Given the description of an element on the screen output the (x, y) to click on. 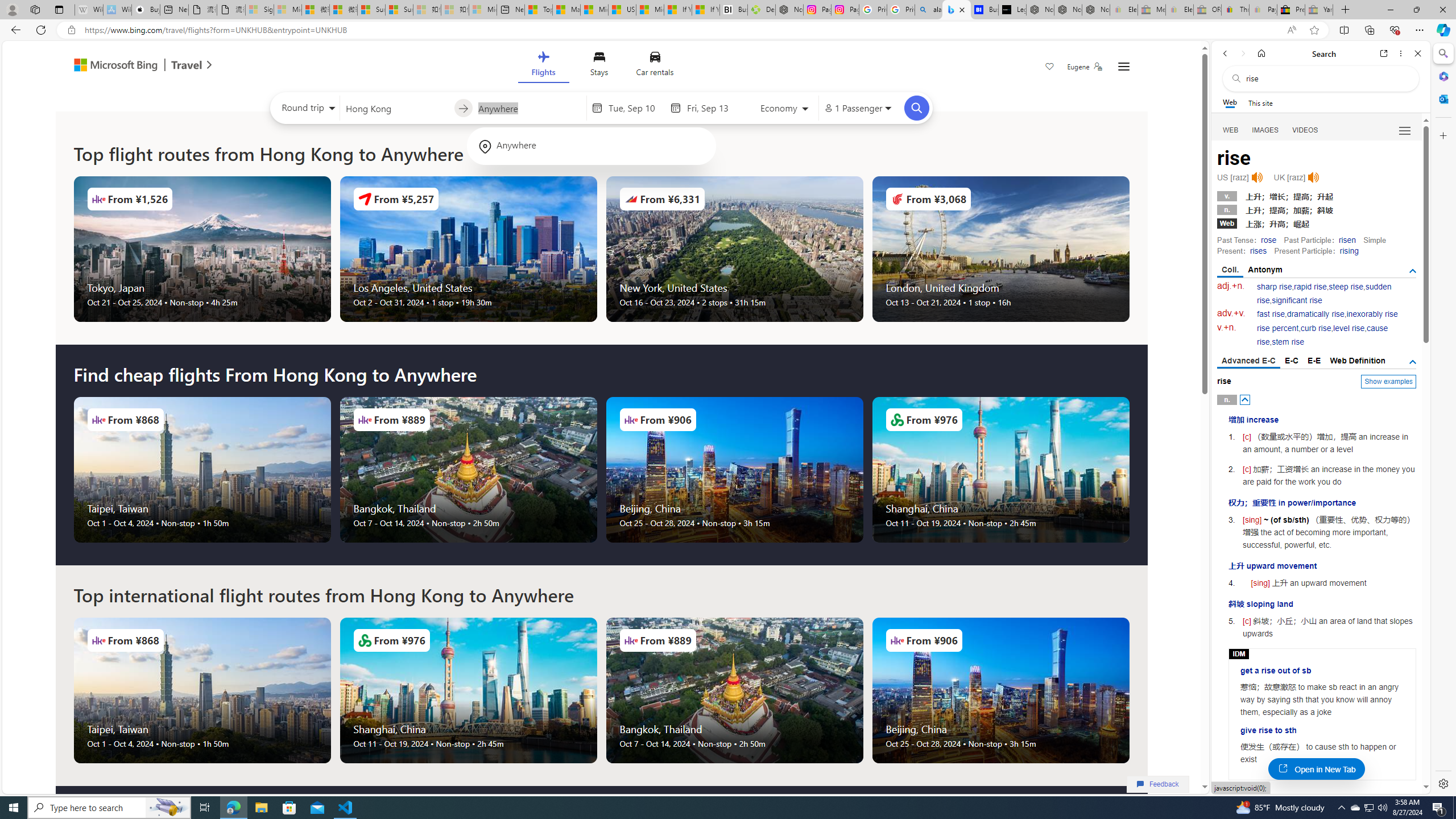
Start Date (636, 107)
Payments Terms of Use | eBay.com - Sleeping (1262, 9)
sudden rise (1323, 293)
